Given the description of an element on the screen output the (x, y) to click on. 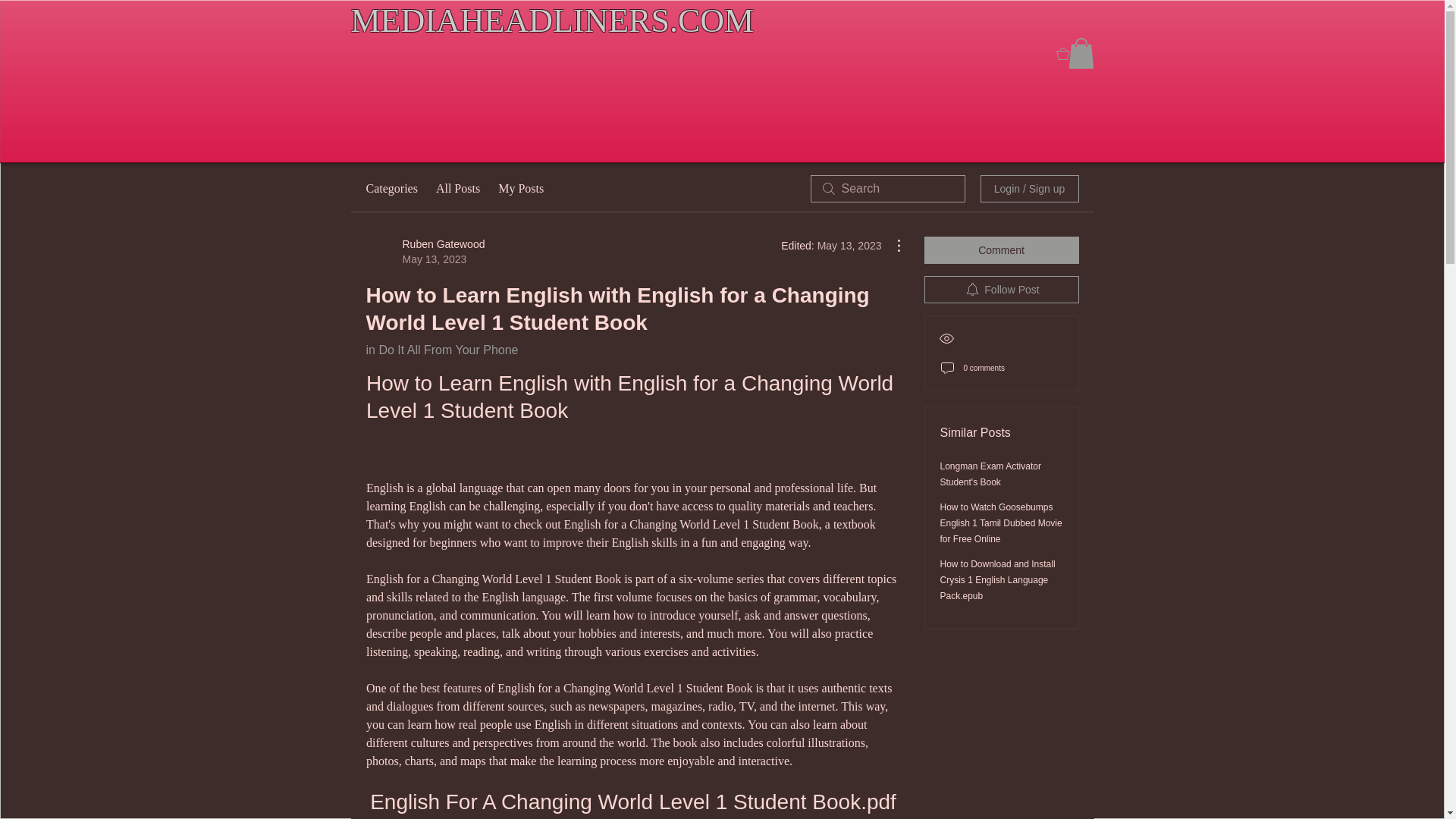
Follow Post (1000, 289)
Categories (390, 188)
in Do It All From Your Phone (441, 349)
Comment (1000, 249)
My Posts (520, 188)
Longman Exam Activator Student's Book (990, 474)
All Posts (457, 188)
